Given the description of an element on the screen output the (x, y) to click on. 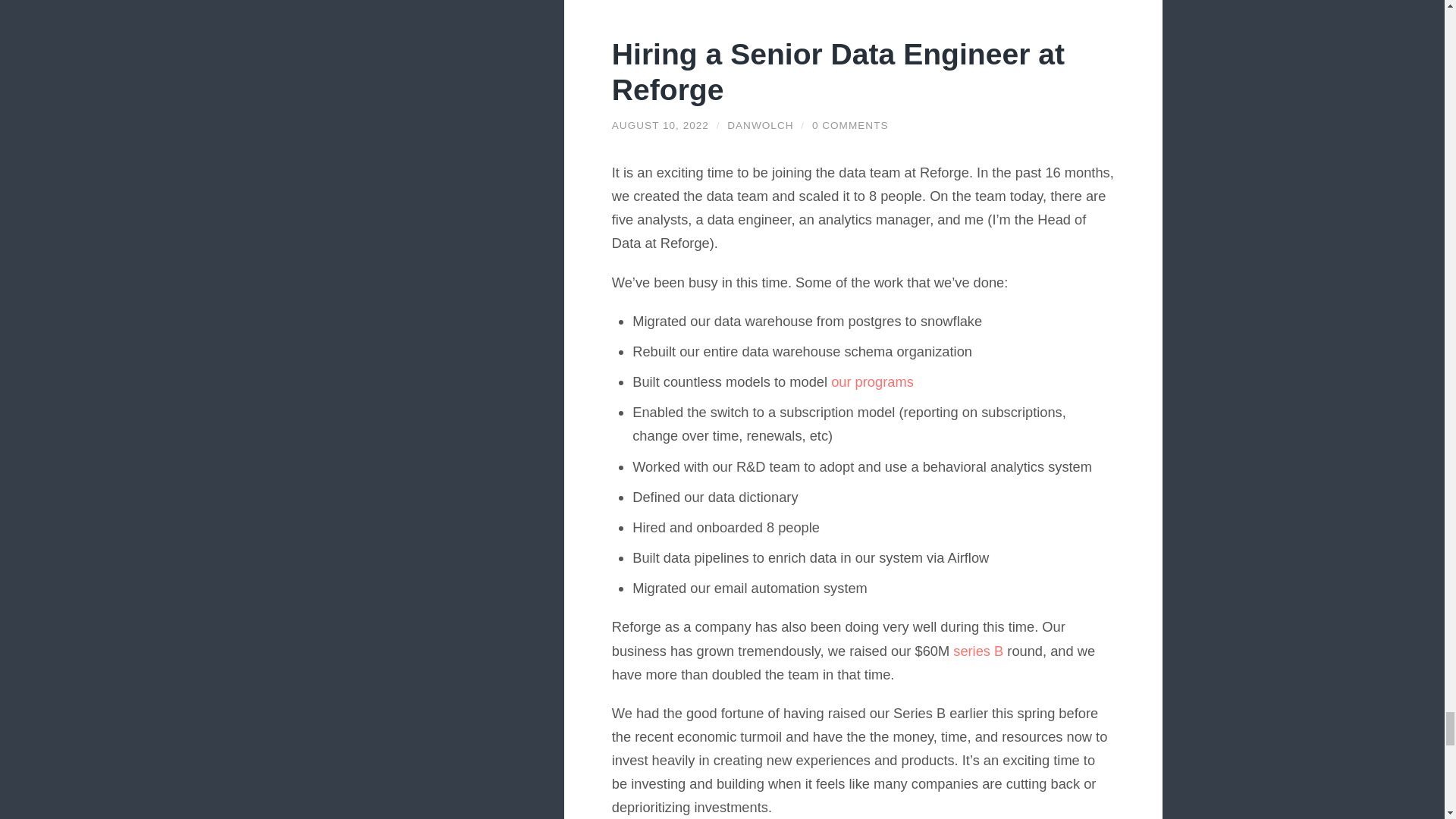
Hiring a Senior Data Engineer at Reforge (660, 125)
Hiring a Senior Data Engineer at Reforge (837, 71)
Posts by danwolch (759, 125)
